Given the description of an element on the screen output the (x, y) to click on. 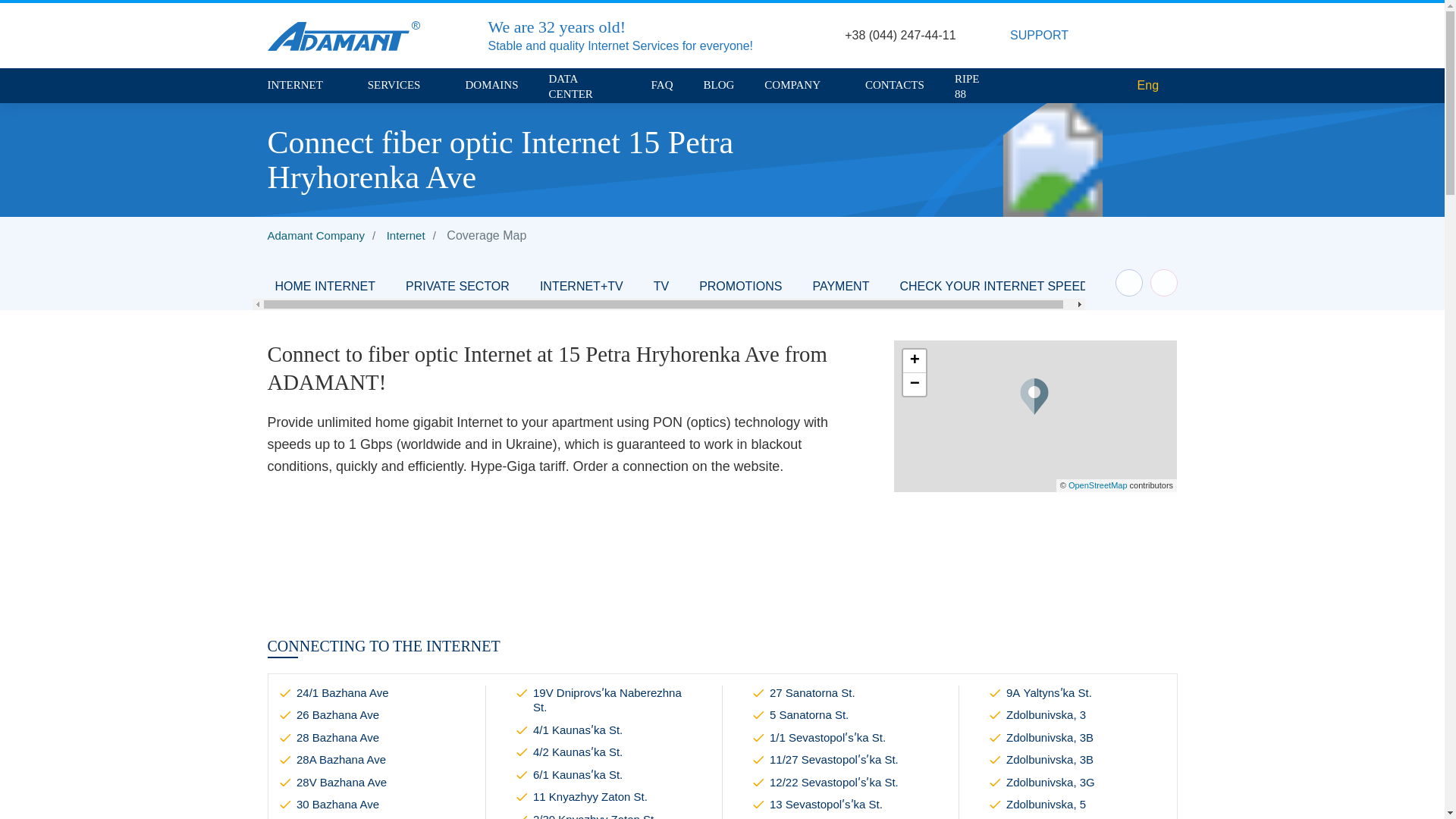
INTERNET (301, 85)
Zoom in (914, 361)
DOMAINS (491, 85)
SERVICES (401, 85)
Client's office (1159, 35)
Zoom out (914, 384)
BLOG (719, 85)
SUPPORT (1047, 35)
COMPANY (799, 85)
DATA CENTER (584, 86)
